Given the description of an element on the screen output the (x, y) to click on. 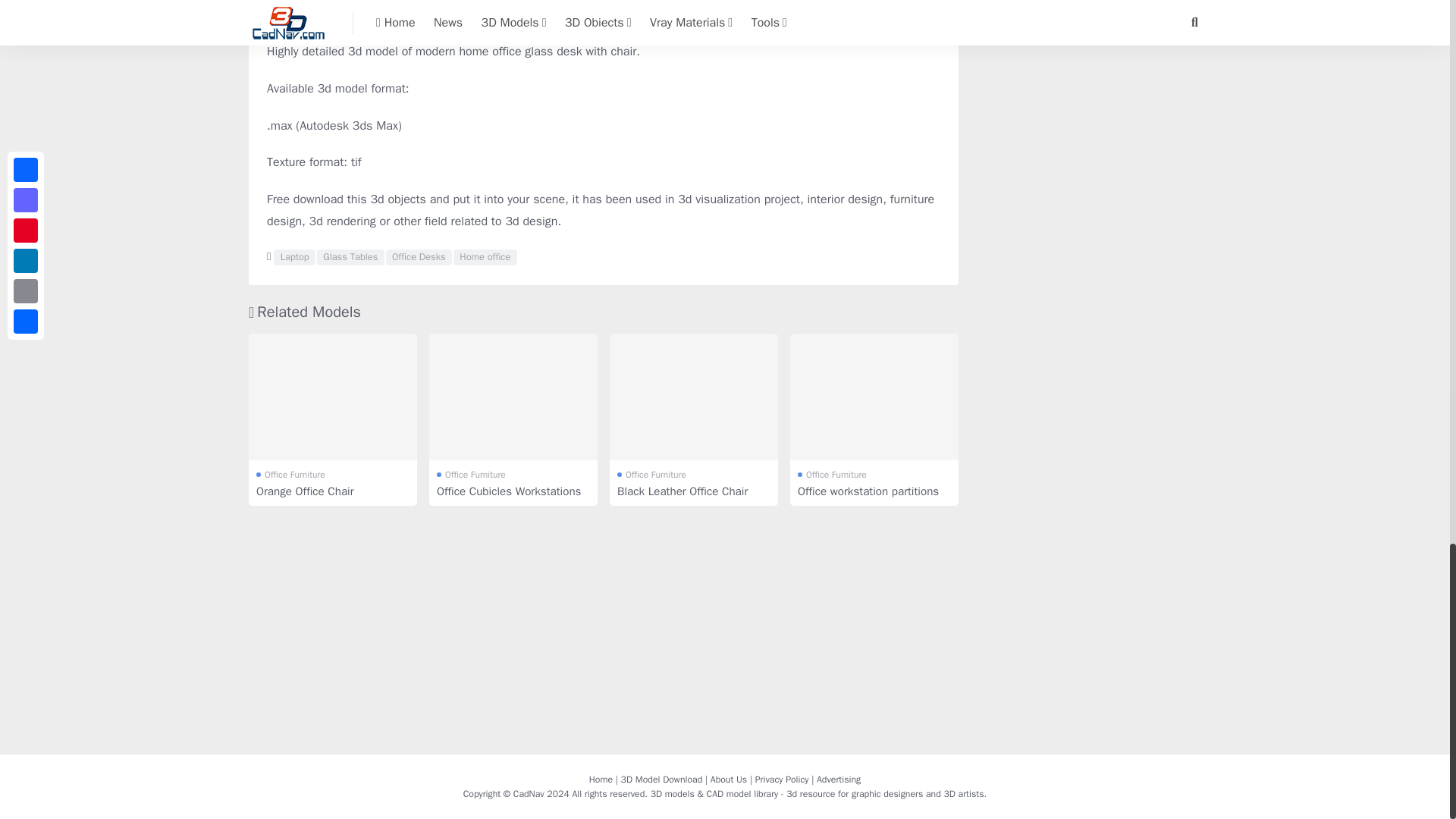
Home office 3d model (484, 257)
Advertisement (1088, 64)
Office Cubicles Workstations 3d model download (512, 396)
Office Desks 3d model (418, 257)
Glass Tables 3d model (350, 257)
Laptop 3d model (294, 257)
Black Leather Office Chair 3d model download (693, 396)
Advertisement (603, 12)
Office workstation partitions 3d model download (874, 396)
